Given the description of an element on the screen output the (x, y) to click on. 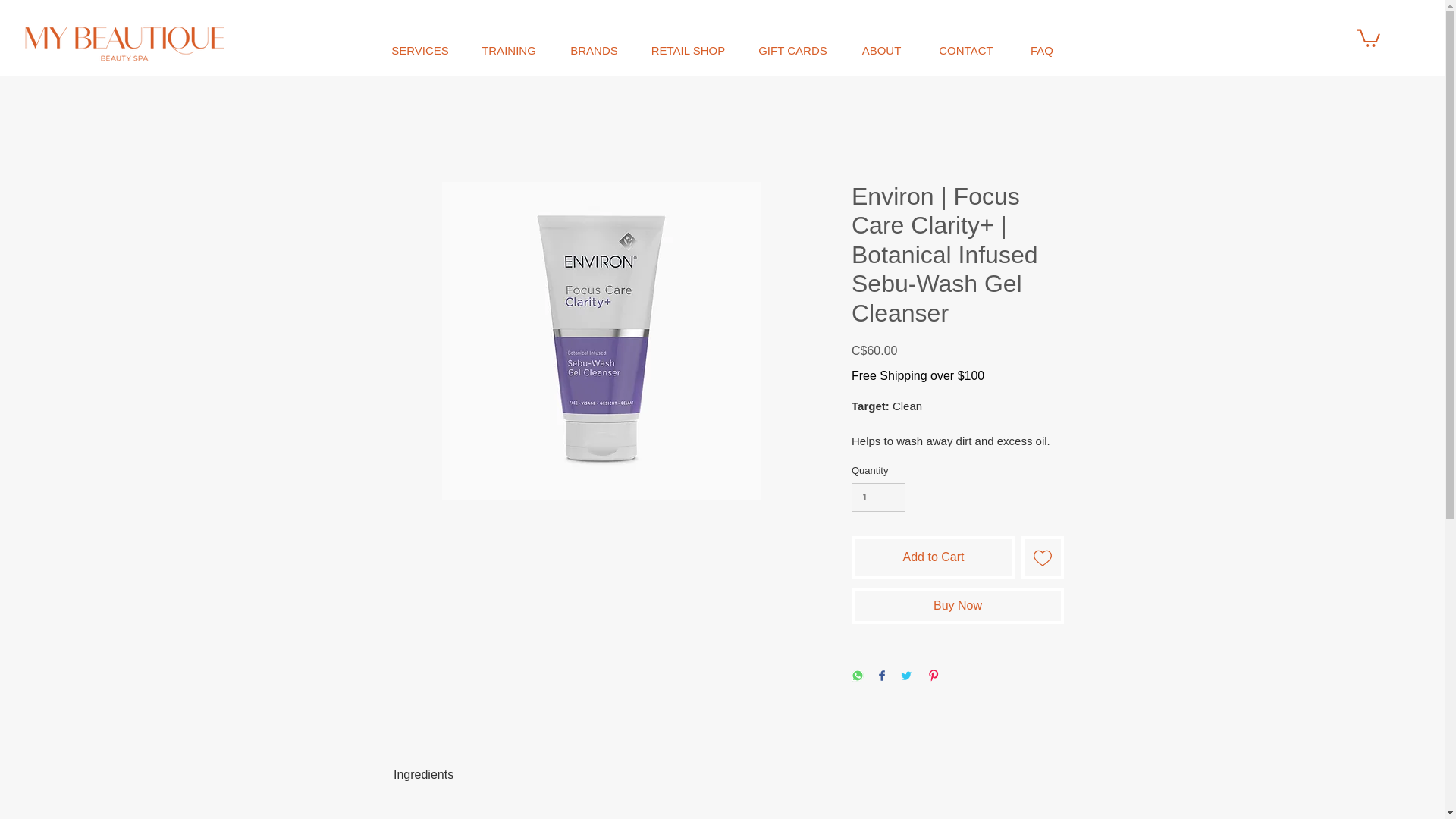
RETAIL SHOP (687, 50)
Use right and left arrows to navigate between tabs (423, 774)
GIFT CARDS (792, 50)
Add to Cart (932, 557)
ABOUT (881, 50)
FAQ (1041, 50)
CONTACT (965, 50)
SERVICES (419, 50)
1 (878, 497)
Buy Now (957, 606)
